Given the description of an element on the screen output the (x, y) to click on. 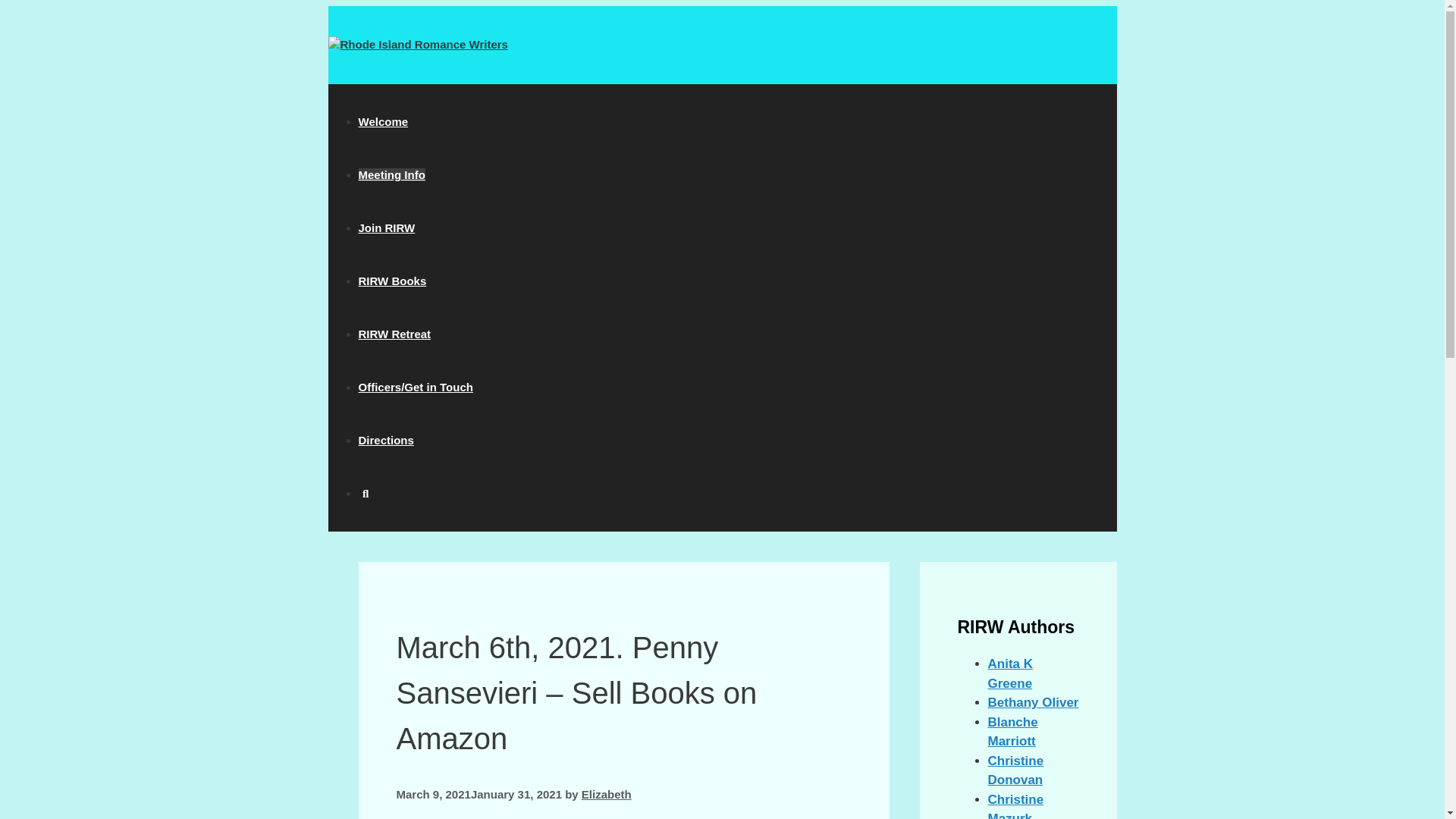
Elizabeth (605, 793)
RIRW Retreat (394, 333)
Bethany Oliver (1032, 702)
Directions (385, 440)
Welcome (382, 121)
RIRW Books (392, 280)
Meeting Info (391, 174)
Christine Mazurk (1015, 805)
